Given the description of an element on the screen output the (x, y) to click on. 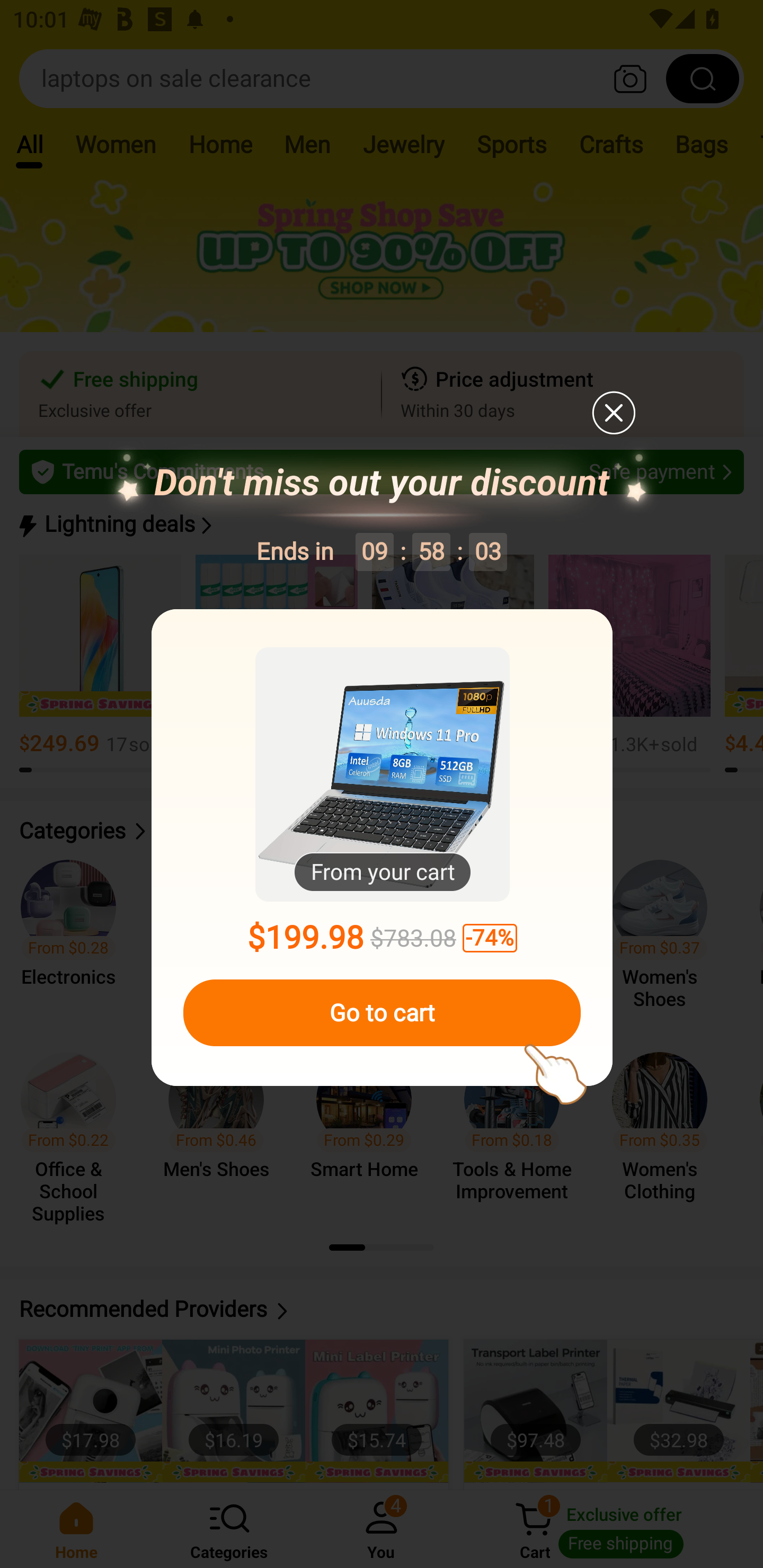
 (612, 412)
From your cart $199.98 $783.08 -74% Go to cart (381, 847)
Go to cart (381, 1012)
